Given the description of an element on the screen output the (x, y) to click on. 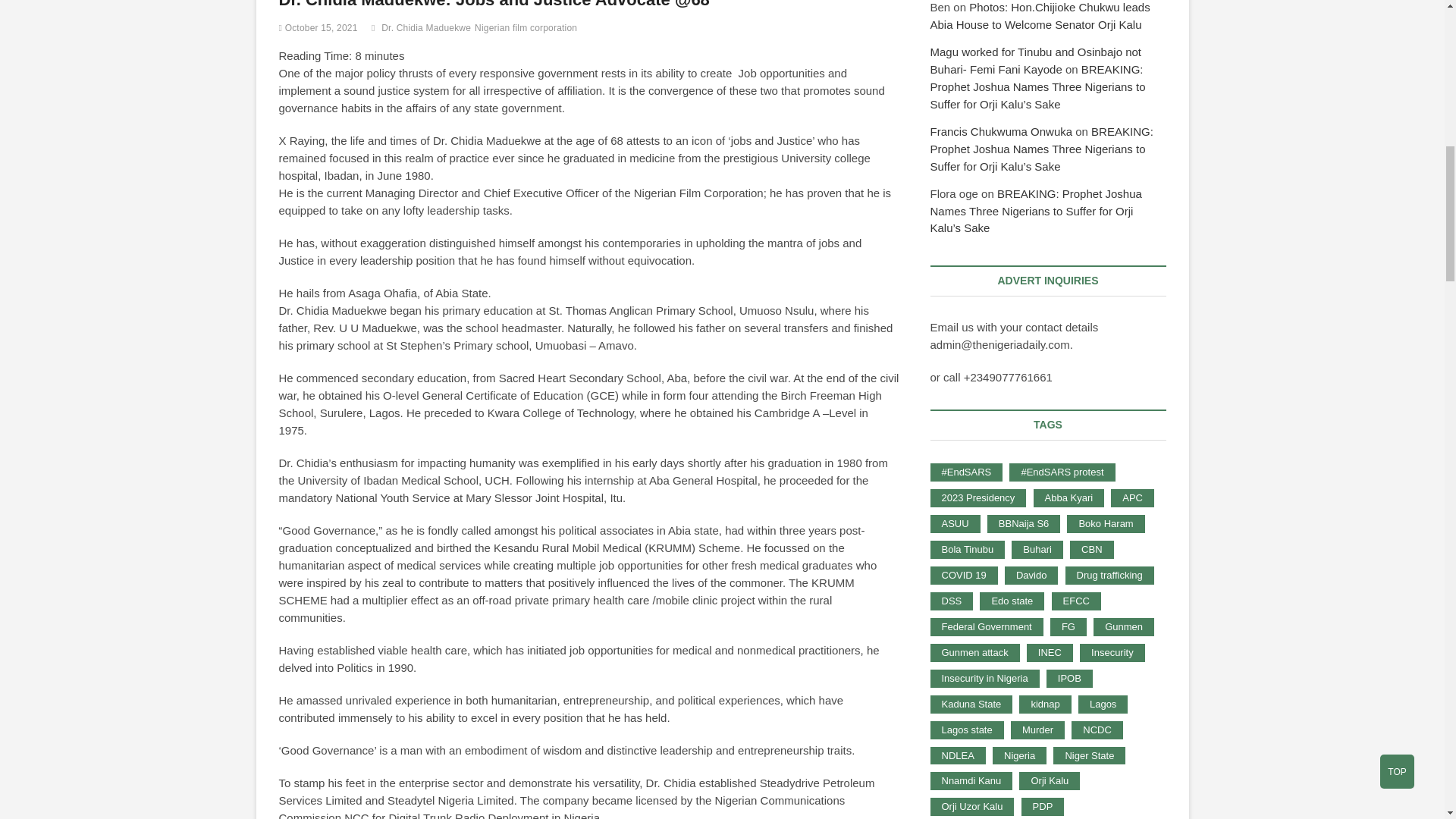
Dr. Chidia Maduekwe (427, 29)
Nigerian film corporation (527, 29)
October 15, 2021 (318, 27)
October 15, 2021 (318, 27)
